Given the description of an element on the screen output the (x, y) to click on. 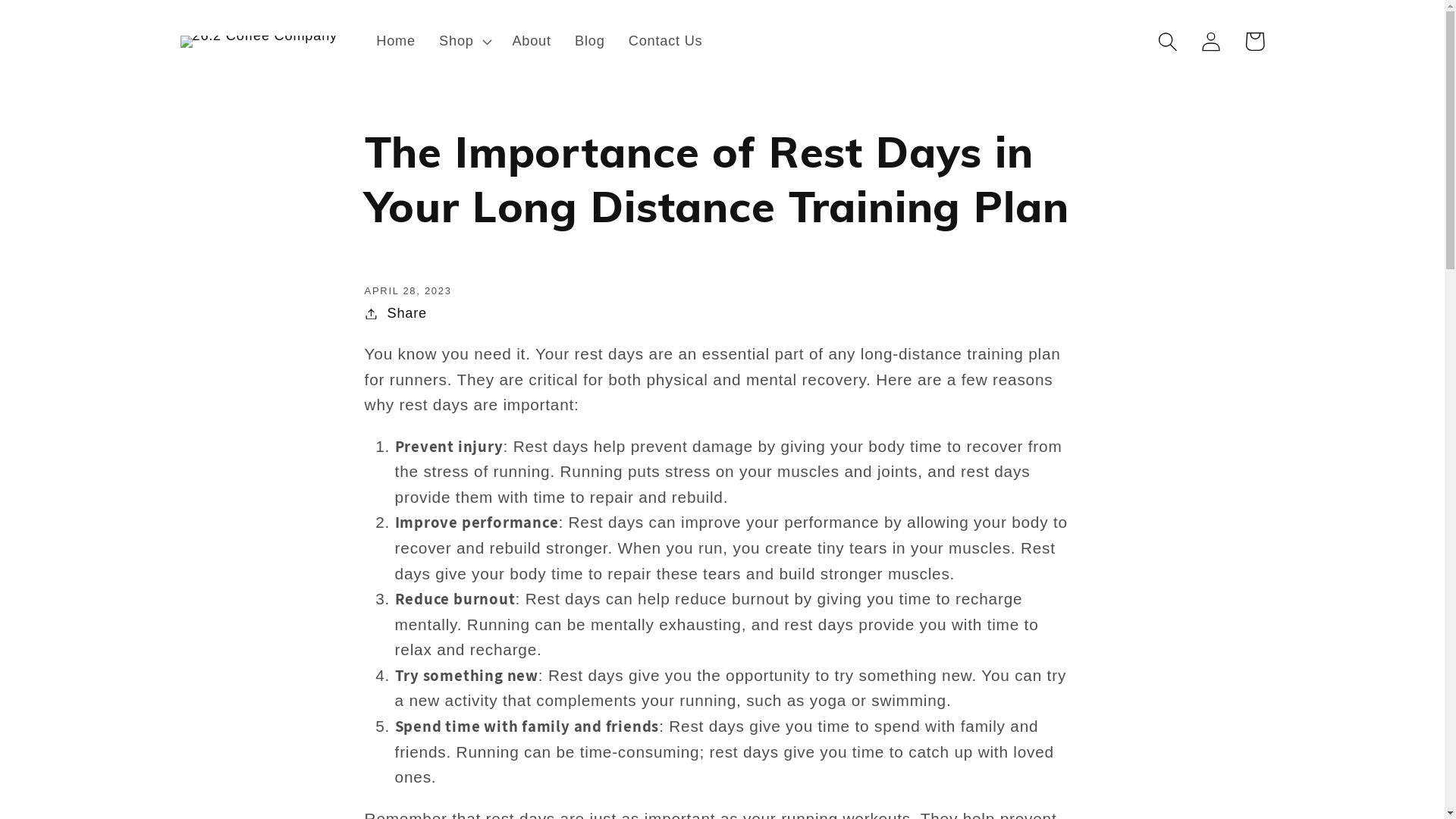
Blog Element type: text (589, 41)
About Element type: text (531, 41)
Contact Us Element type: text (665, 41)
Log in Element type: text (1211, 40)
Cart Element type: text (1254, 40)
Home Element type: text (395, 41)
